Given the description of an element on the screen output the (x, y) to click on. 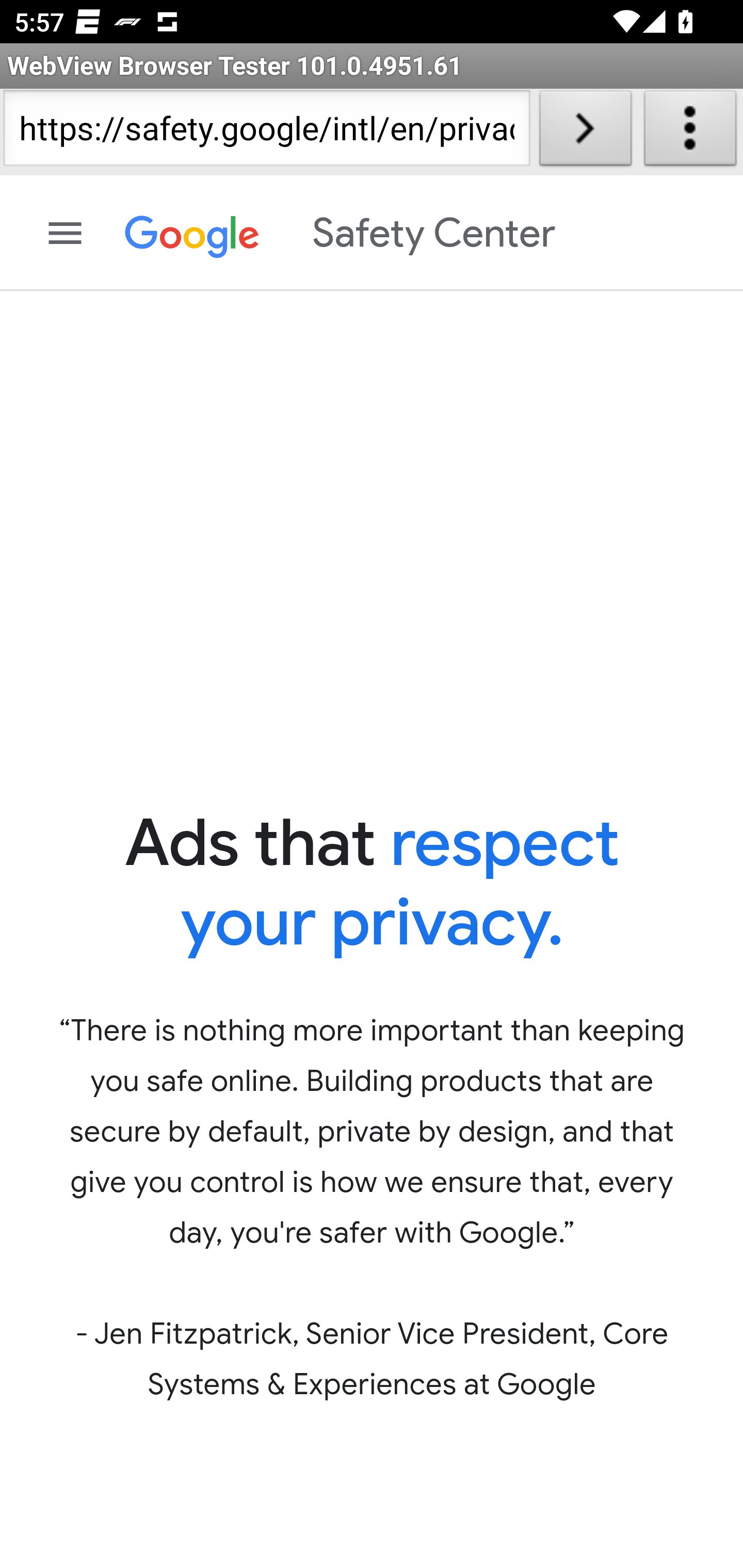
Load URL (585, 132)
About WebView (690, 132)
Open the navigation drawer (65, 233)
Safety Center (340, 233)
